Given the description of an element on the screen output the (x, y) to click on. 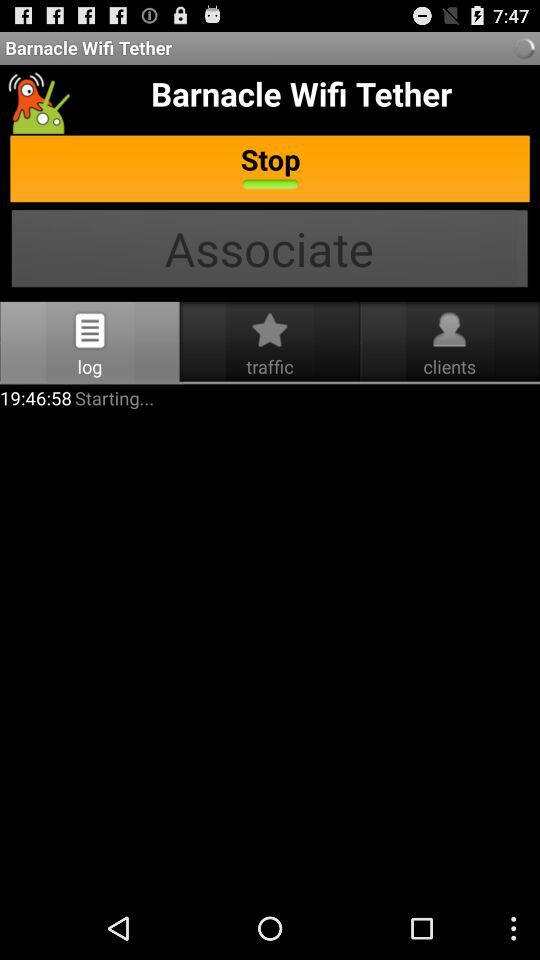
click log (90, 330)
click on text stop (269, 171)
select the text which reads associate (269, 251)
select clients beside traffic (449, 330)
select the star symbol above traffic (269, 330)
